Given the description of an element on the screen output the (x, y) to click on. 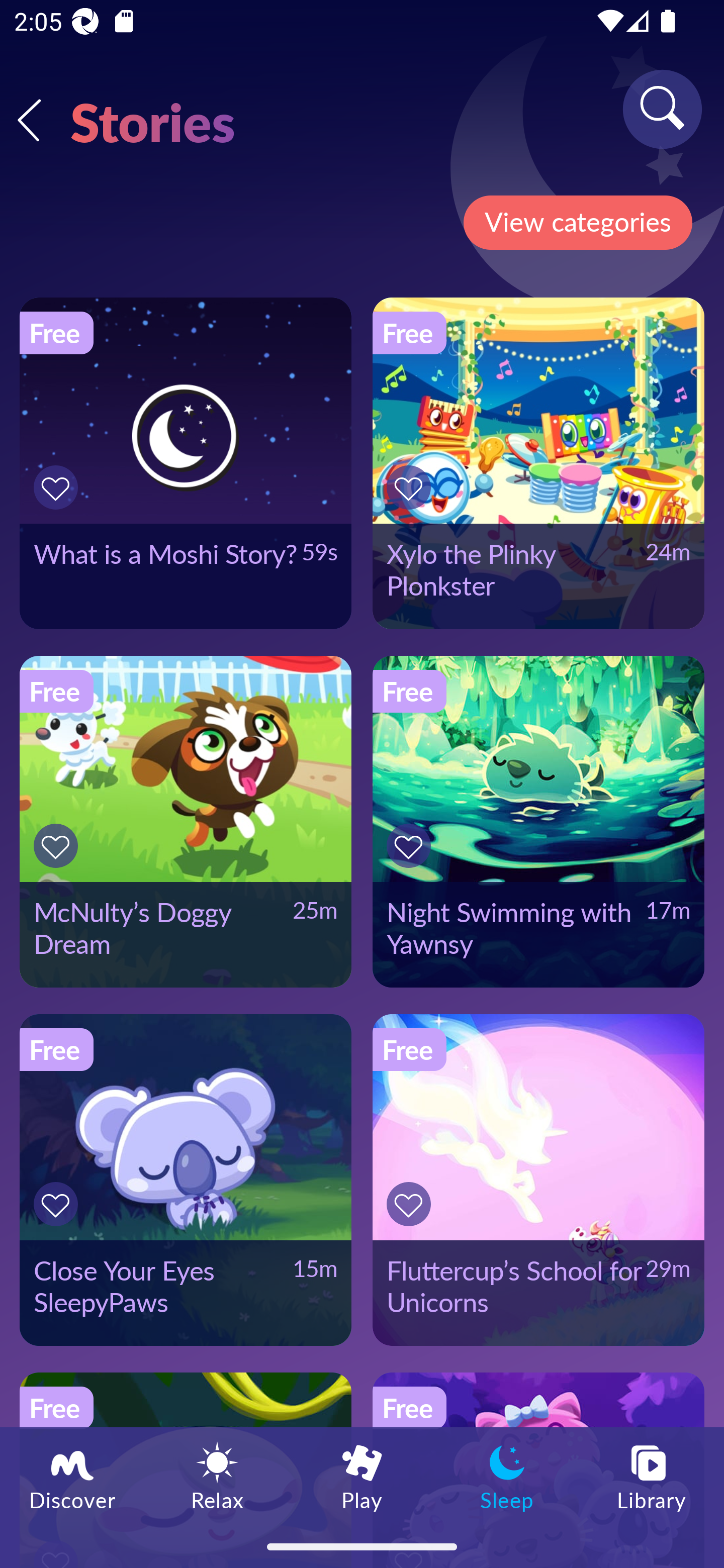
View categories (577, 222)
Button (58, 487)
Button (411, 487)
Button (58, 844)
Button (411, 844)
Button (58, 1203)
Button (411, 1203)
Discover (72, 1475)
Relax (216, 1475)
Play (361, 1475)
Library (651, 1475)
